Given the description of an element on the screen output the (x, y) to click on. 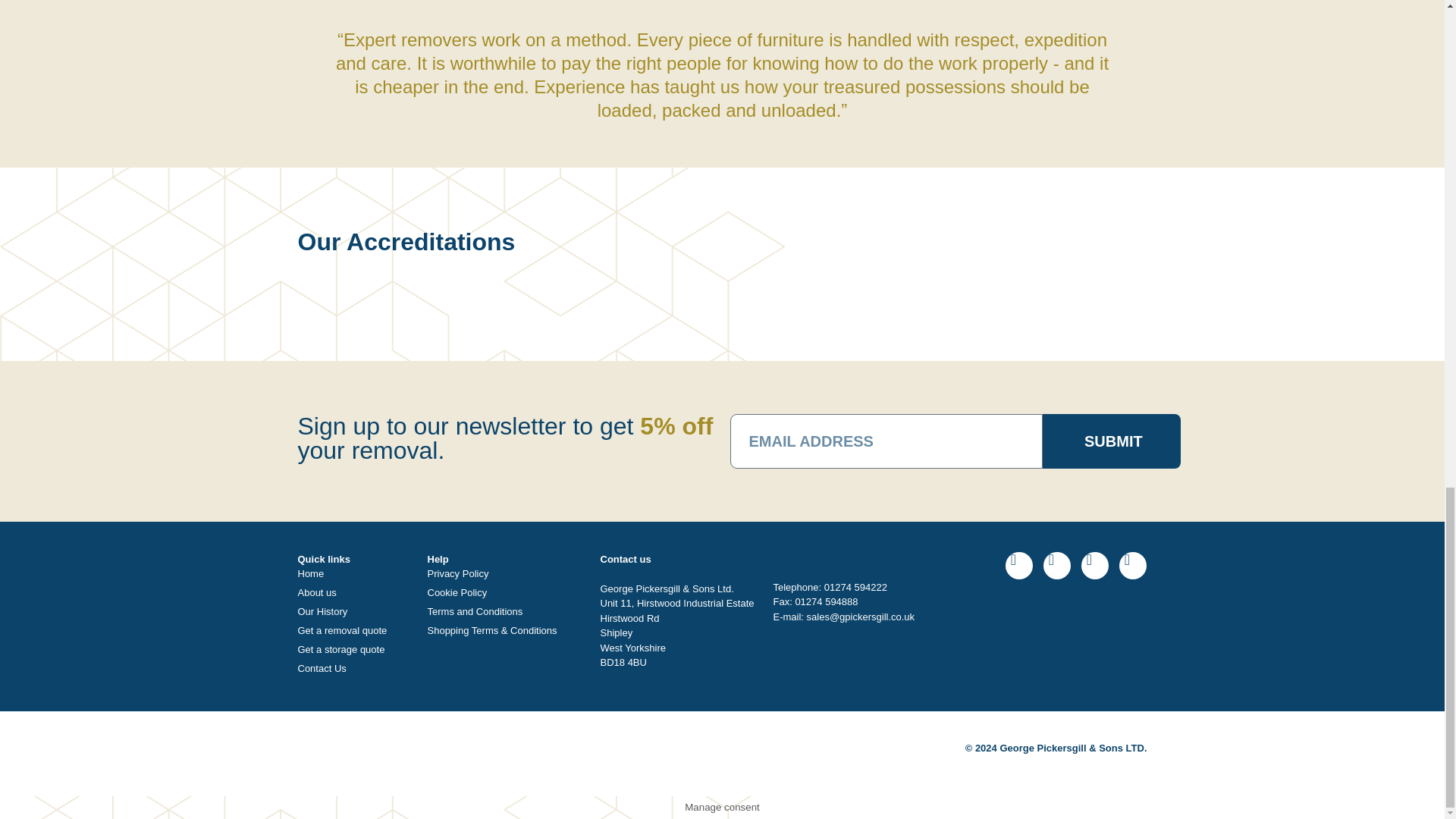
Home (354, 573)
SUBMIT (1111, 441)
Our History (354, 611)
Get a removal quote (354, 630)
About us (354, 592)
Get a storage quote (354, 649)
